Given the description of an element on the screen output the (x, y) to click on. 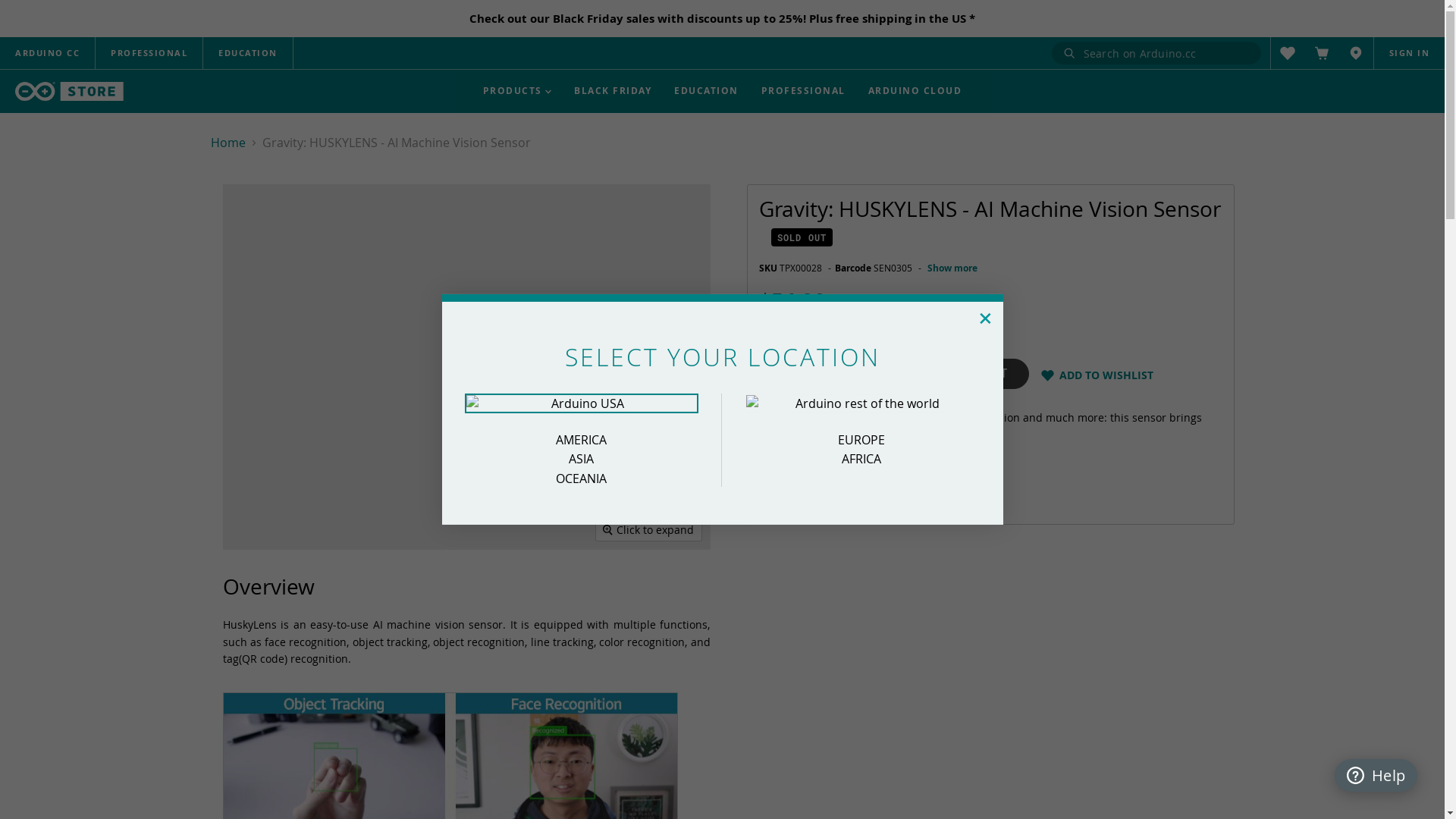
SOLD OUT Element type: text (975, 373)
Help Element type: text (1375, 775)
ADD TO WISHLIST Element type: text (1106, 375)
Tweet on Twitter Element type: text (792, 491)
SIGN IN Element type: text (1409, 53)
Tech Specs Element type: text (344, 61)
Pin on Pinterest Element type: text (840, 491)
Click to expand Element type: text (648, 529)
PROFESSIONAL Element type: text (802, 90)
BLACK FRIDAY Element type: text (612, 90)
ARDUINO CC Element type: text (47, 53)
ARDUINO CLOUD Element type: text (914, 90)
Share on LinkedIn Element type: text (816, 491)
PROFESSIONAL Element type: text (148, 53)
Show more Element type: text (952, 267)
Home Element type: text (227, 142)
EDUCATION Element type: text (247, 53)
EDUCATION Element type: text (705, 90)
+ Element type: text (976, 308)
Share on Facebook Element type: text (768, 491)
Overview Element type: text (254, 61)
